Given the description of an element on the screen output the (x, y) to click on. 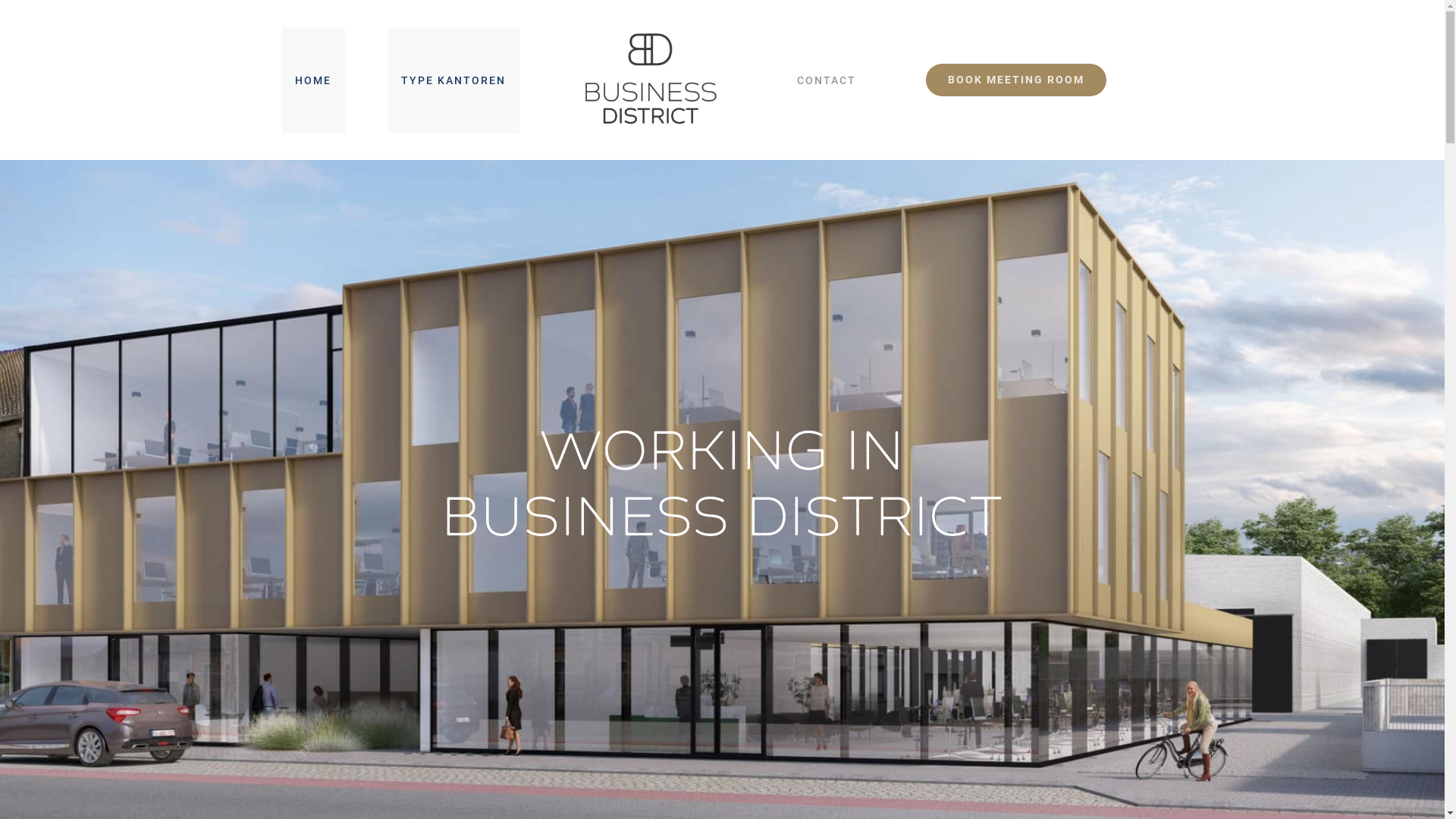
CONTACT Element type: text (826, 80)
HOME Element type: text (313, 80)
BOOK MEETING ROOM Element type: text (1016, 80)
TYPE KANTOREN Element type: text (453, 80)
